Given the description of an element on the screen output the (x, y) to click on. 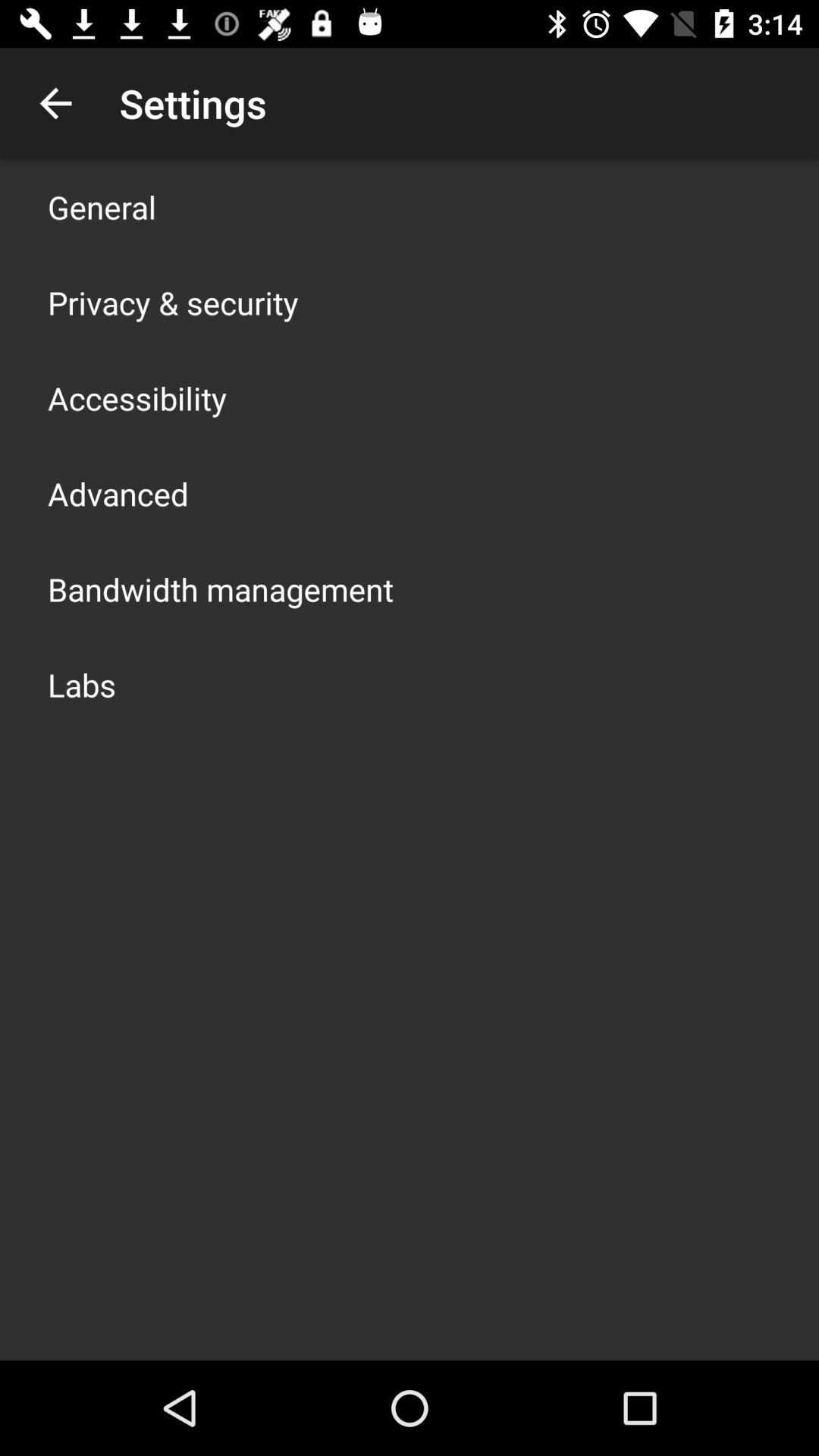
choose the item below the general (172, 302)
